Given the description of an element on the screen output the (x, y) to click on. 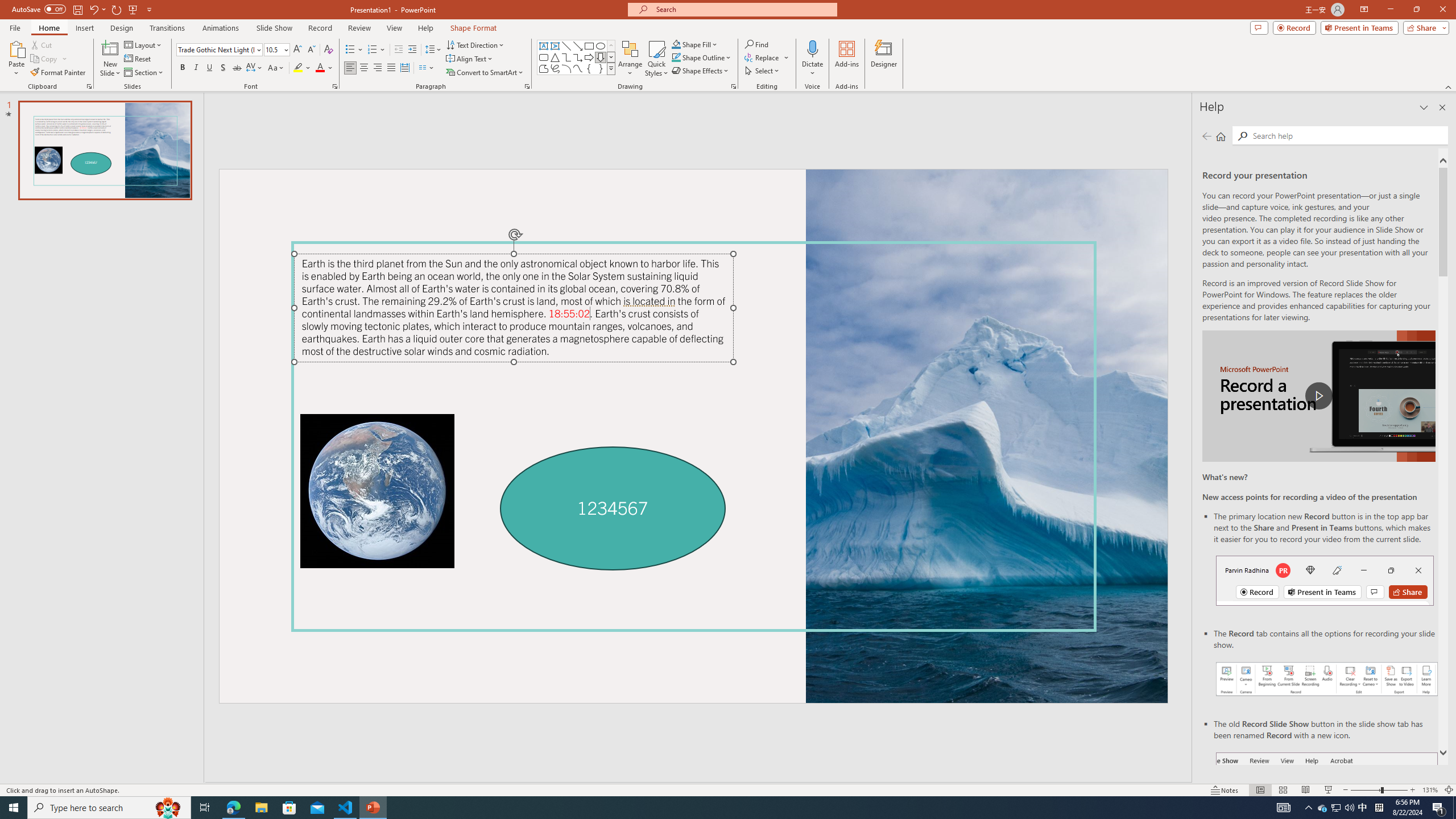
Shape Effects (700, 69)
Record your presentations screenshot one (1326, 678)
play Record a Presentation (1318, 395)
Shape Outline Teal, Accent 1 (675, 56)
